Given the description of an element on the screen output the (x, y) to click on. 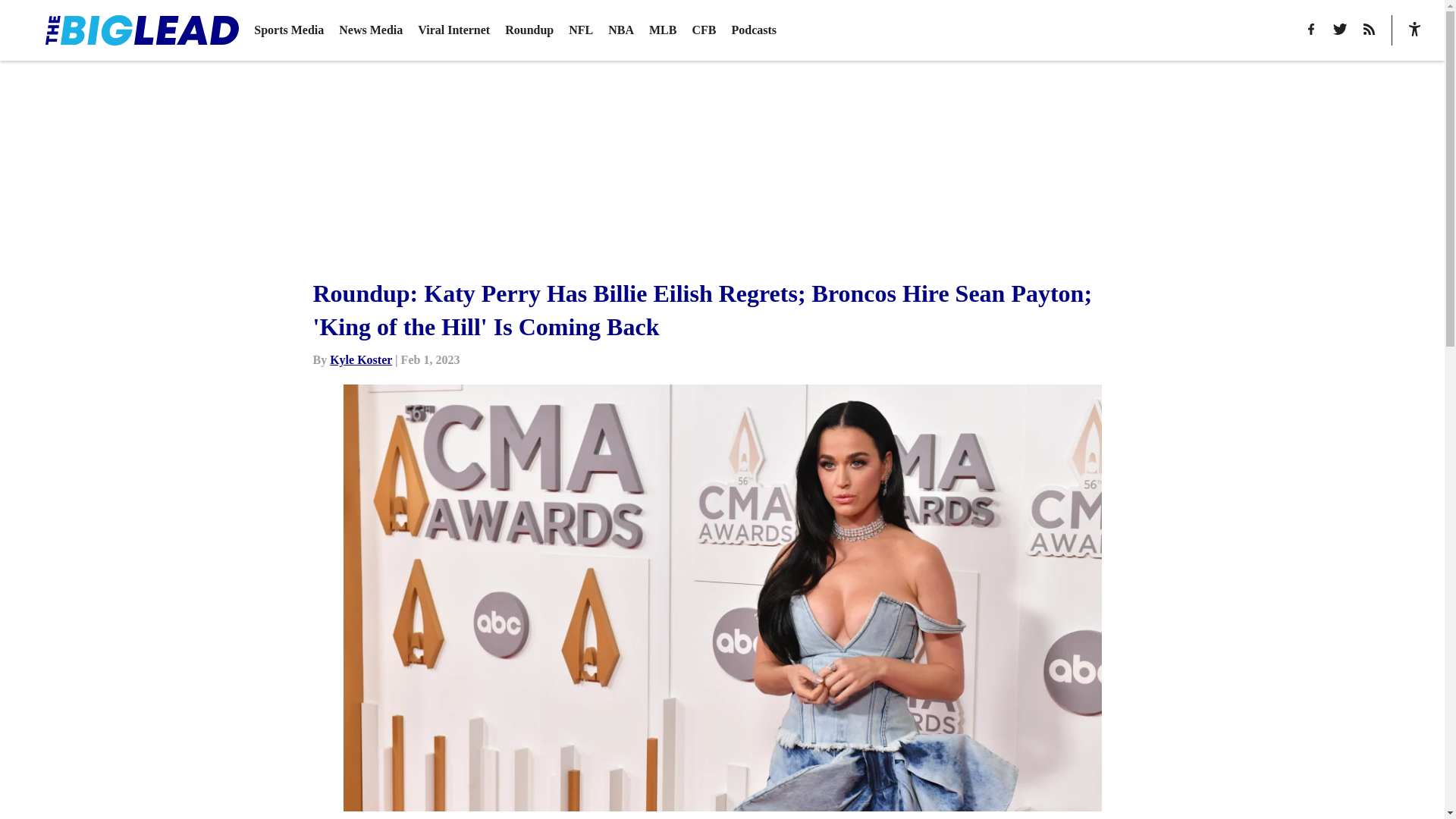
Sports Media (288, 30)
Kyle Koster (360, 359)
Podcasts (753, 30)
NBA (620, 30)
NFL (580, 30)
CFB (703, 30)
Roundup (529, 30)
Viral Internet (453, 30)
MLB (663, 30)
